Given the description of an element on the screen output the (x, y) to click on. 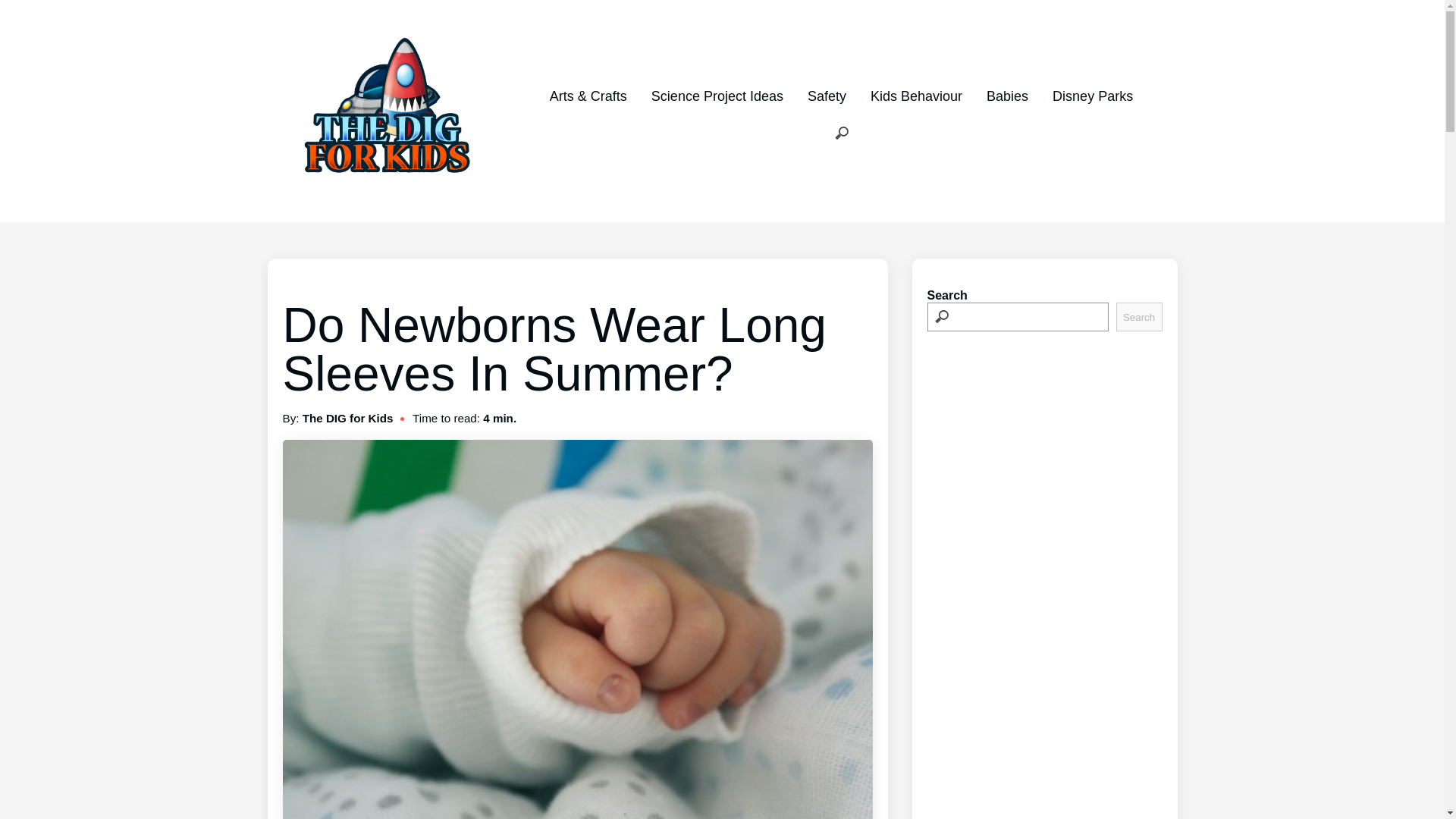
Search for: (841, 133)
Safety (826, 96)
Disney Parks (1092, 96)
Kids Behaviour (916, 96)
Science Project Ideas (716, 96)
Search (1138, 316)
Babies (1007, 96)
